Given the description of an element on the screen output the (x, y) to click on. 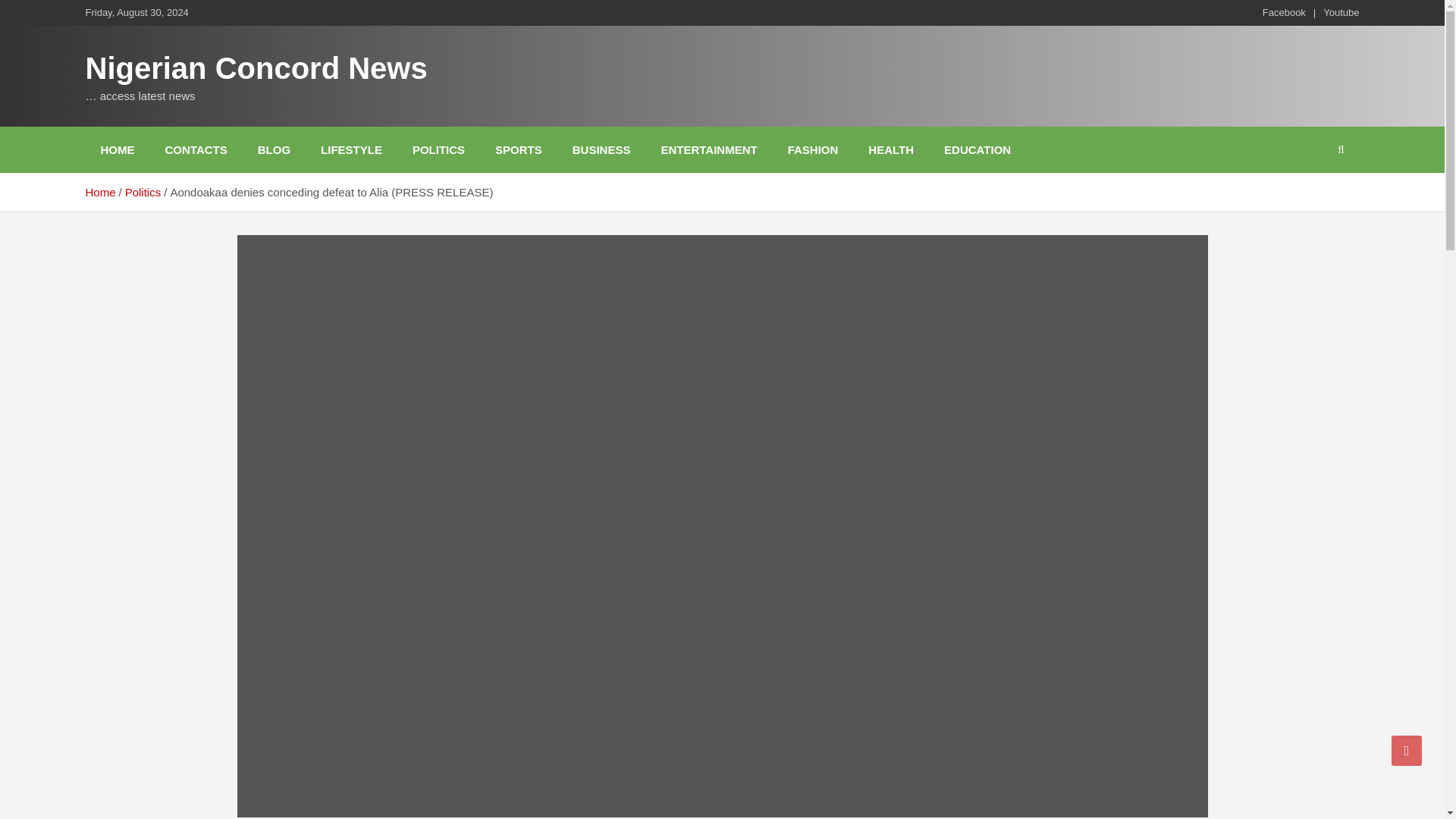
POLITICS (438, 149)
BLOG (274, 149)
Nigerian Concord News (255, 68)
HEALTH (890, 149)
SPORTS (518, 149)
LIFESTYLE (351, 149)
Home (99, 192)
FASHION (813, 149)
EDUCATION (977, 149)
Youtube (1340, 12)
